Given the description of an element on the screen output the (x, y) to click on. 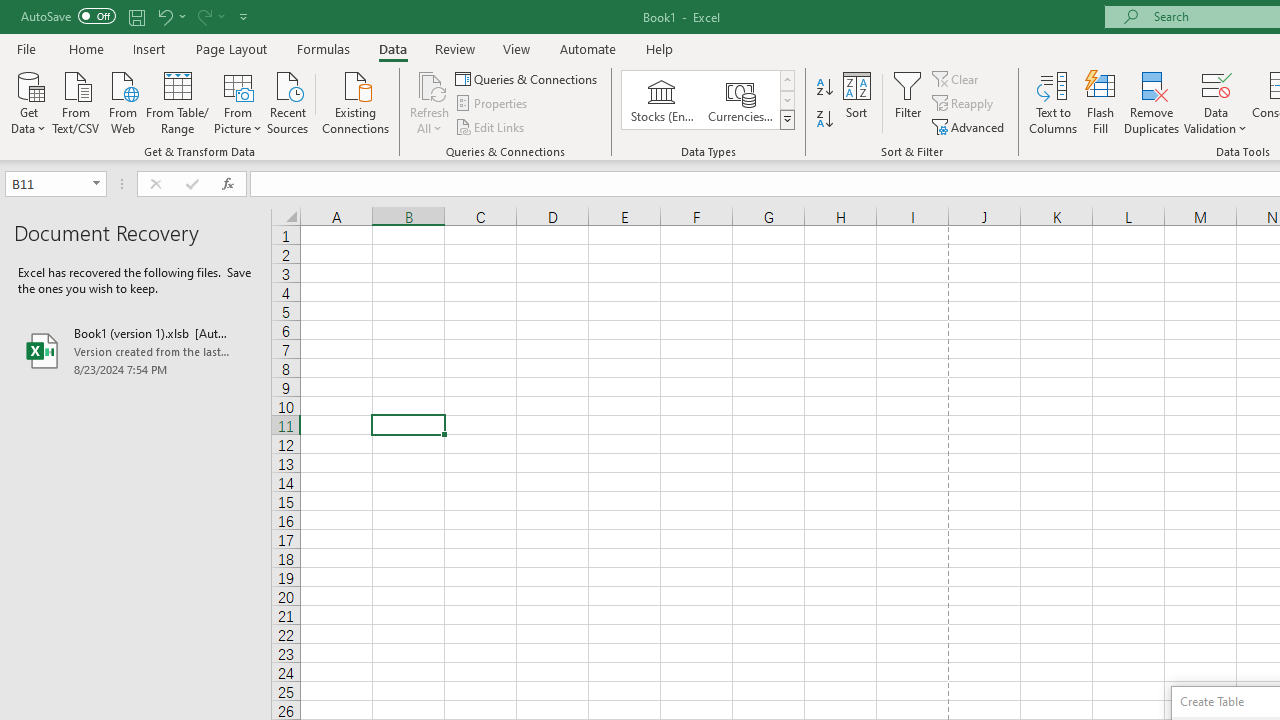
Text to Columns... (1053, 102)
Row Down (786, 100)
Currencies (English) (740, 100)
Sort A to Z (824, 87)
Filter (908, 102)
From Text/CSV (75, 101)
Flash Fill (1101, 102)
